Given the description of an element on the screen output the (x, y) to click on. 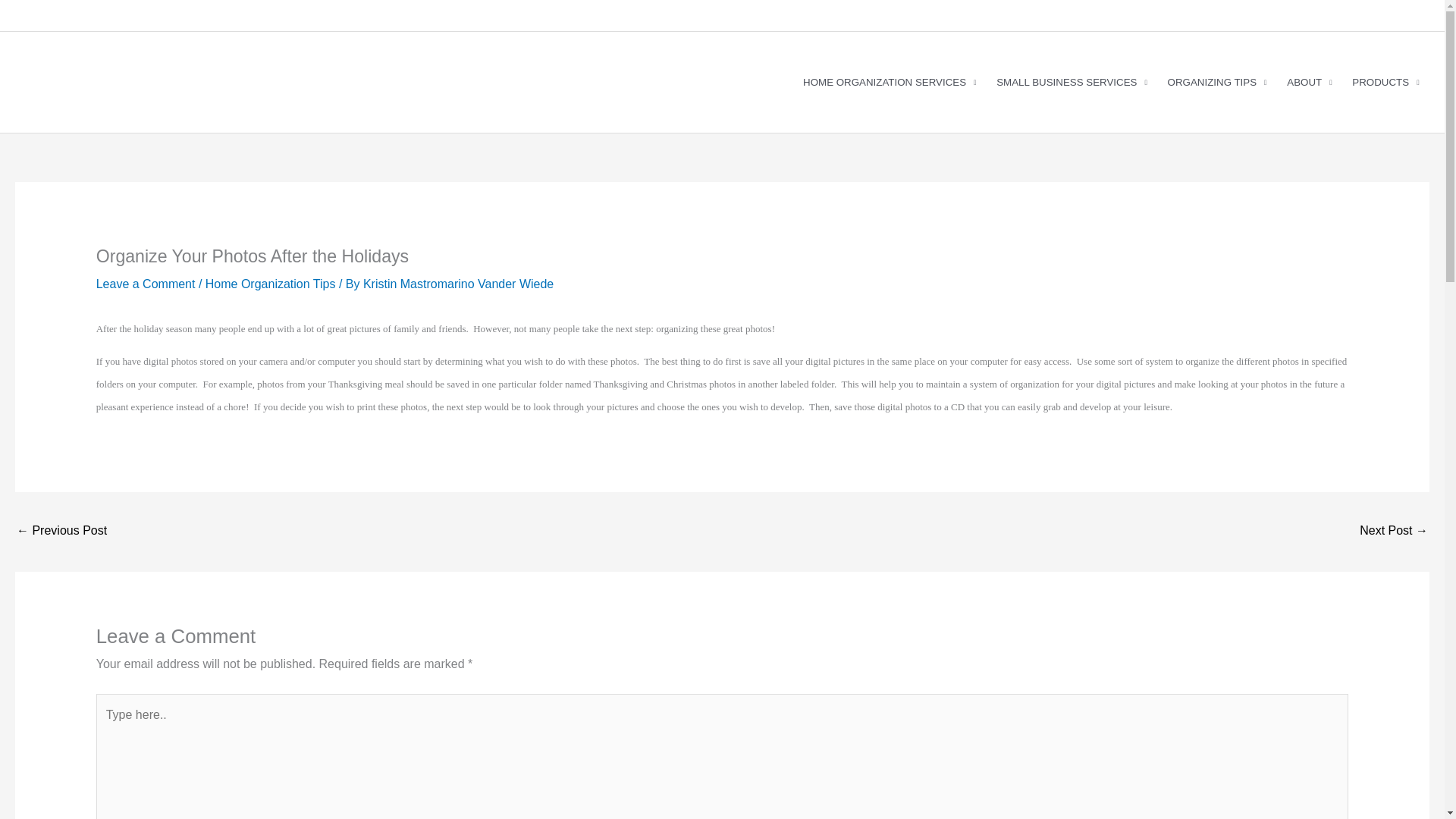
Contact (200, 15)
ORGANIZING TIPS (1216, 81)
The Fifteen Minute Pick-Up (1393, 531)
HOME ORGANIZATION SERVICES (890, 81)
SMALL BUSINESS SERVICES (1072, 81)
Holiday Gift Ideas at the Organized Lifestyle Store (61, 531)
Home (33, 15)
View all posts by Kristin Mastromarino Vander Wiede (457, 283)
